Given the description of an element on the screen output the (x, y) to click on. 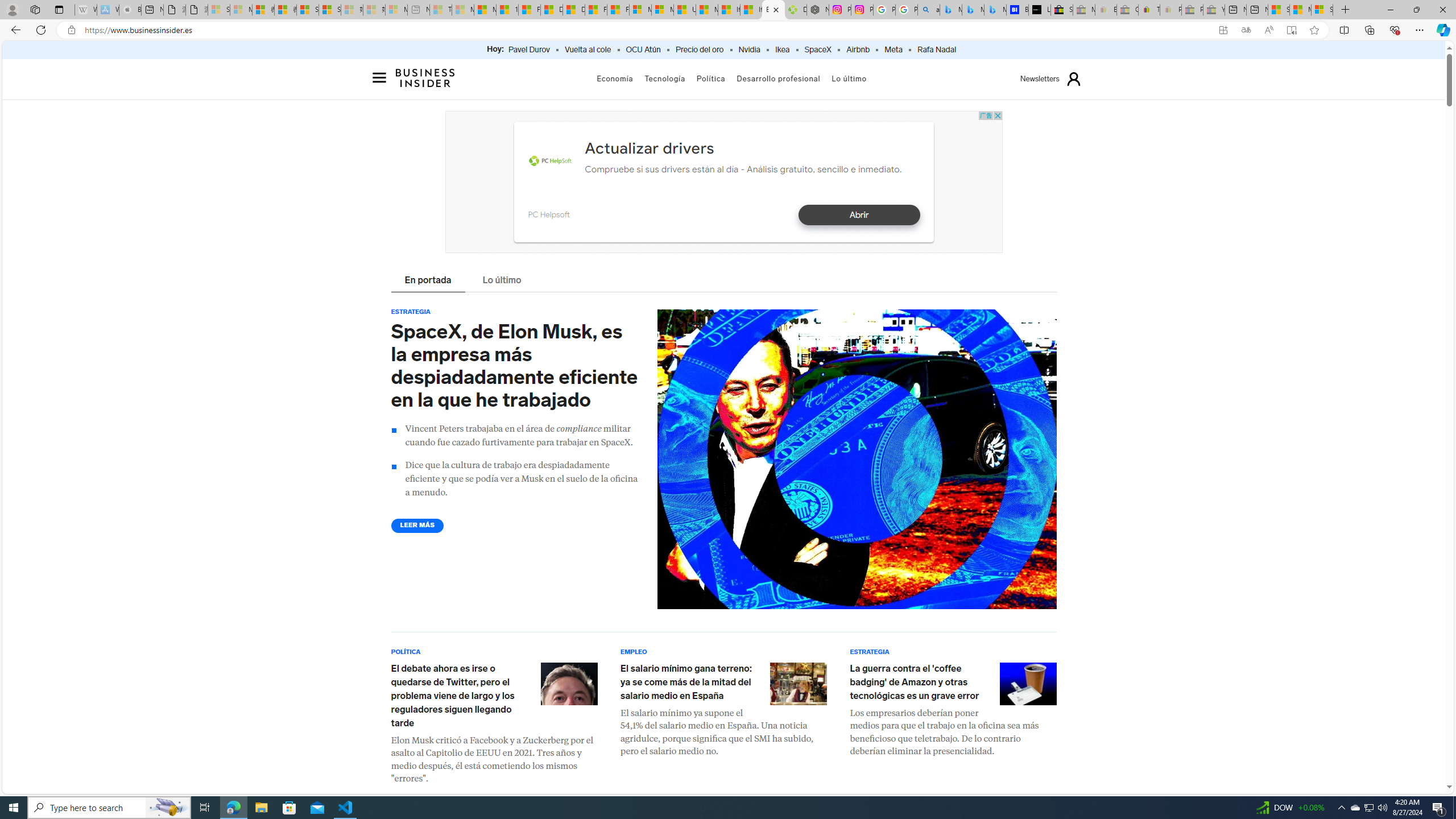
Meta (892, 49)
Microsoft Bing Travel - Shangri-La Hotel Bangkok (995, 9)
Desarrollo profesional (778, 78)
Payments Terms of Use | eBay.com - Sleeping (1170, 9)
Wikipedia - Sleeping (85, 9)
Collage of Elon Musk with US currency and a Tesla (856, 459)
Selling on eBay | Electronics, Fashion, Home & Garden | eBay (1061, 9)
Vuelta al cole (587, 49)
